Given the description of an element on the screen output the (x, y) to click on. 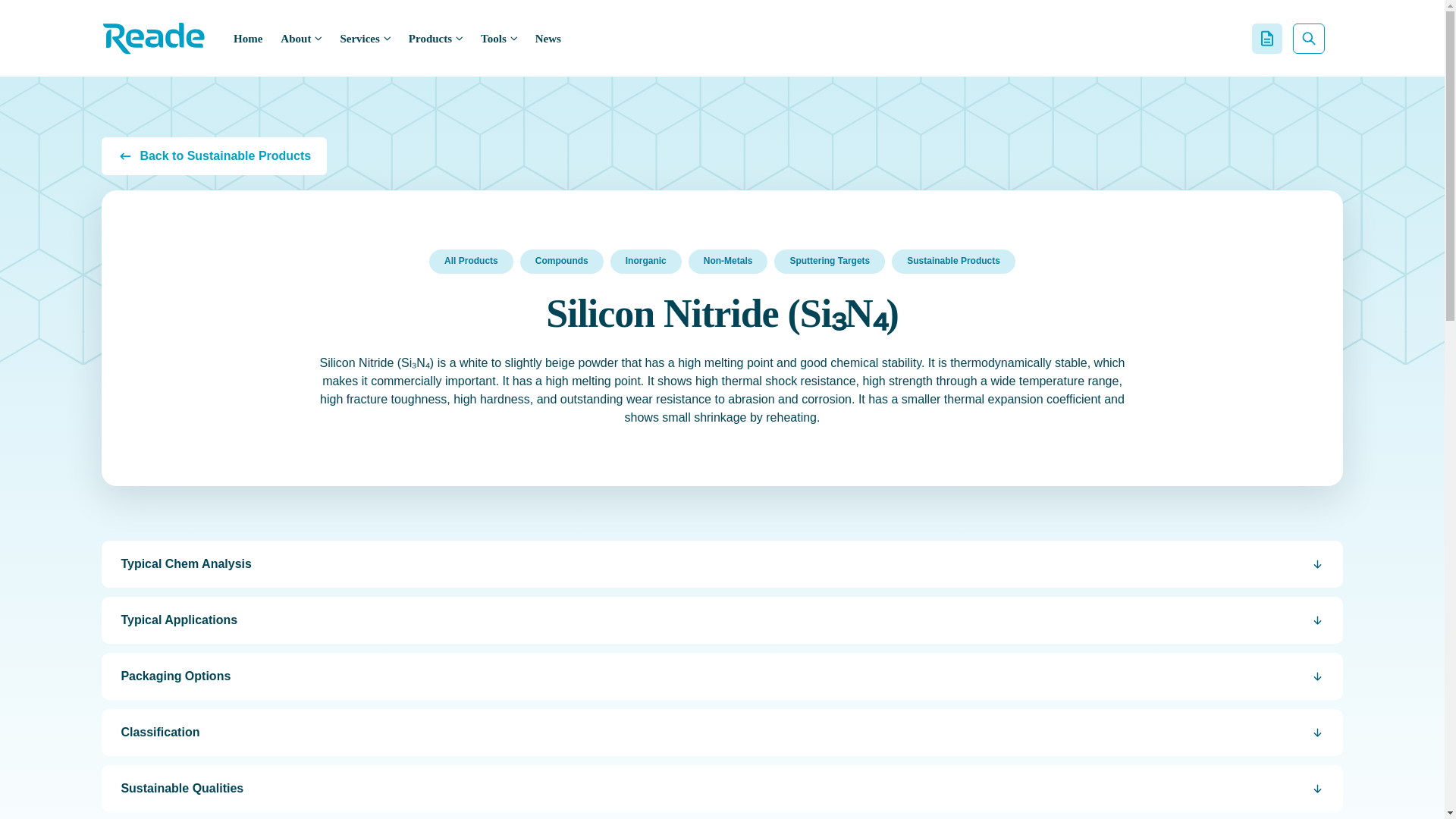
Home - Reade (153, 38)
About (301, 37)
View Quote (1267, 37)
Home (247, 37)
